Given the description of an element on the screen output the (x, y) to click on. 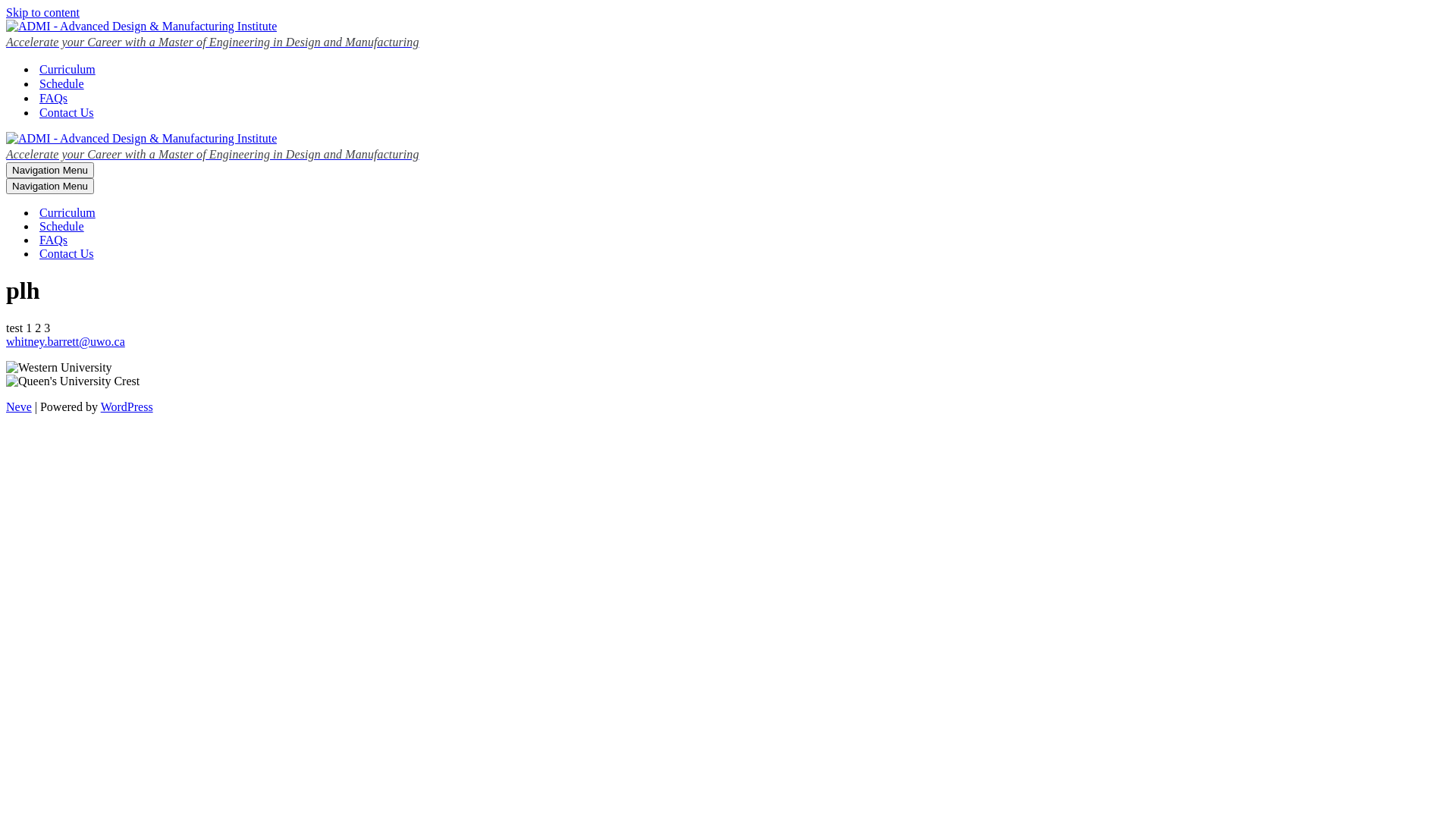
Curriculum Element type: text (67, 212)
Navigation Menu Element type: text (50, 186)
WordPress Element type: text (126, 406)
Contact Us Element type: text (66, 253)
whitney.barrett@uwo.ca Element type: text (65, 341)
Schedule Element type: text (61, 83)
Navigation Menu Element type: text (50, 170)
Curriculum Element type: text (67, 69)
Contact Us Element type: text (66, 112)
Skip to content Element type: text (42, 12)
Schedule Element type: text (61, 226)
FAQs Element type: text (53, 240)
FAQs Element type: text (53, 98)
Neve Element type: text (18, 406)
